Given the description of an element on the screen output the (x, y) to click on. 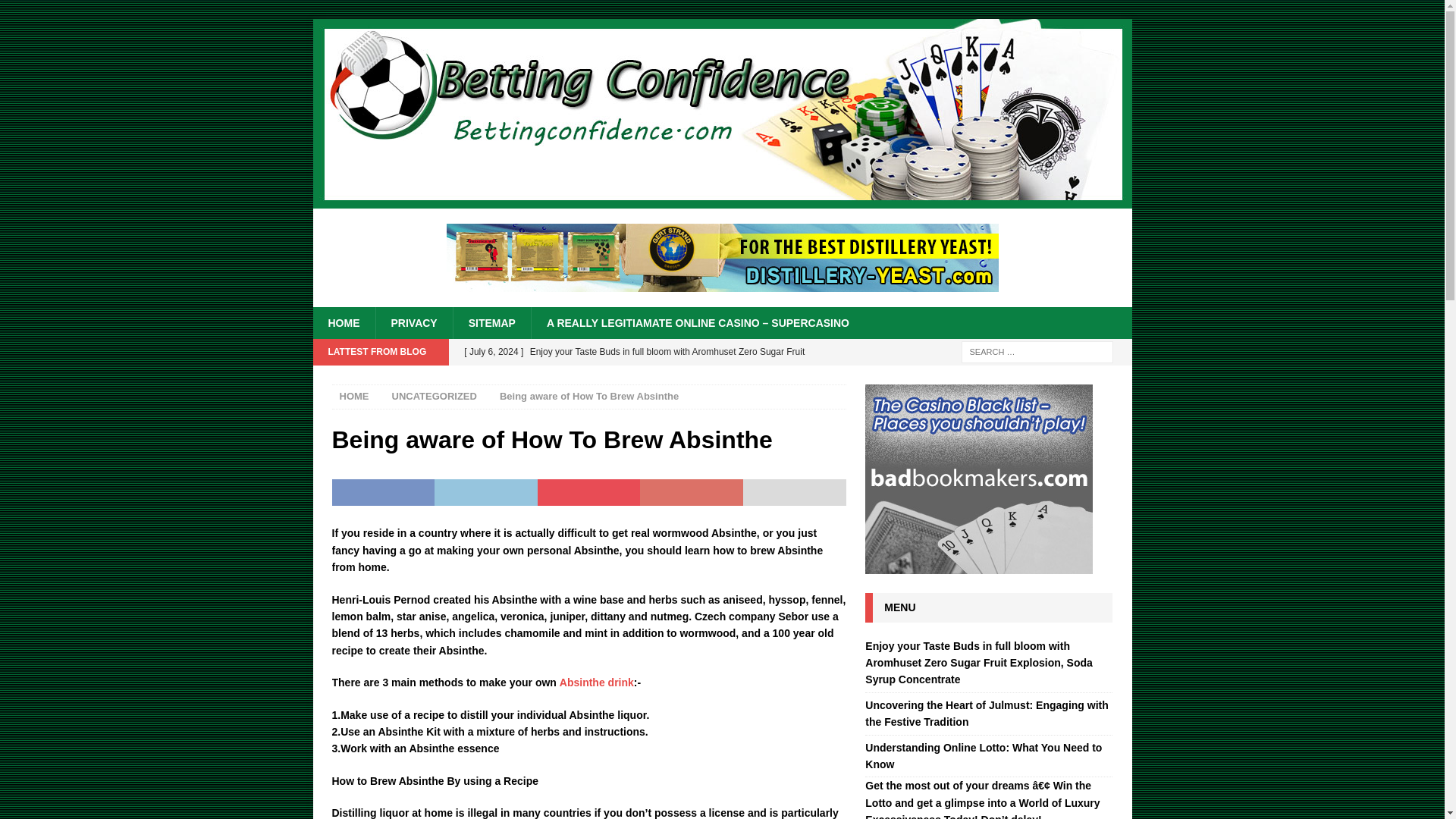
For the best distillery yeast! (721, 257)
bettingconfidence (722, 200)
SITEMAP (491, 323)
HOME (354, 396)
Absinthe drink (596, 682)
Search (56, 11)
HOME (343, 323)
PRIVACY (412, 323)
UNCATEGORIZED (433, 396)
